Given the description of an element on the screen output the (x, y) to click on. 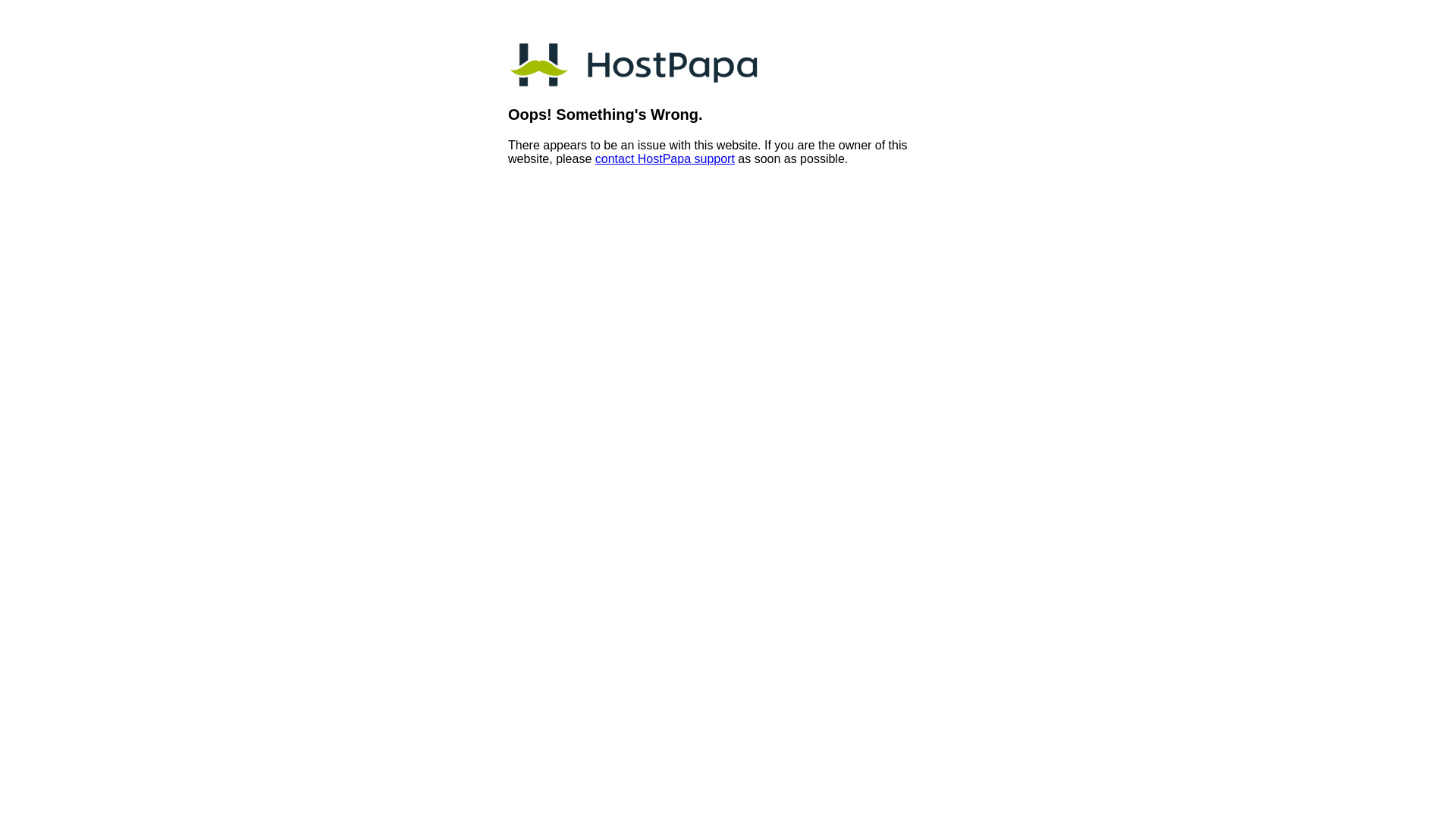
contact HostPapa support Element type: text (664, 158)
